Given the description of an element on the screen output the (x, y) to click on. 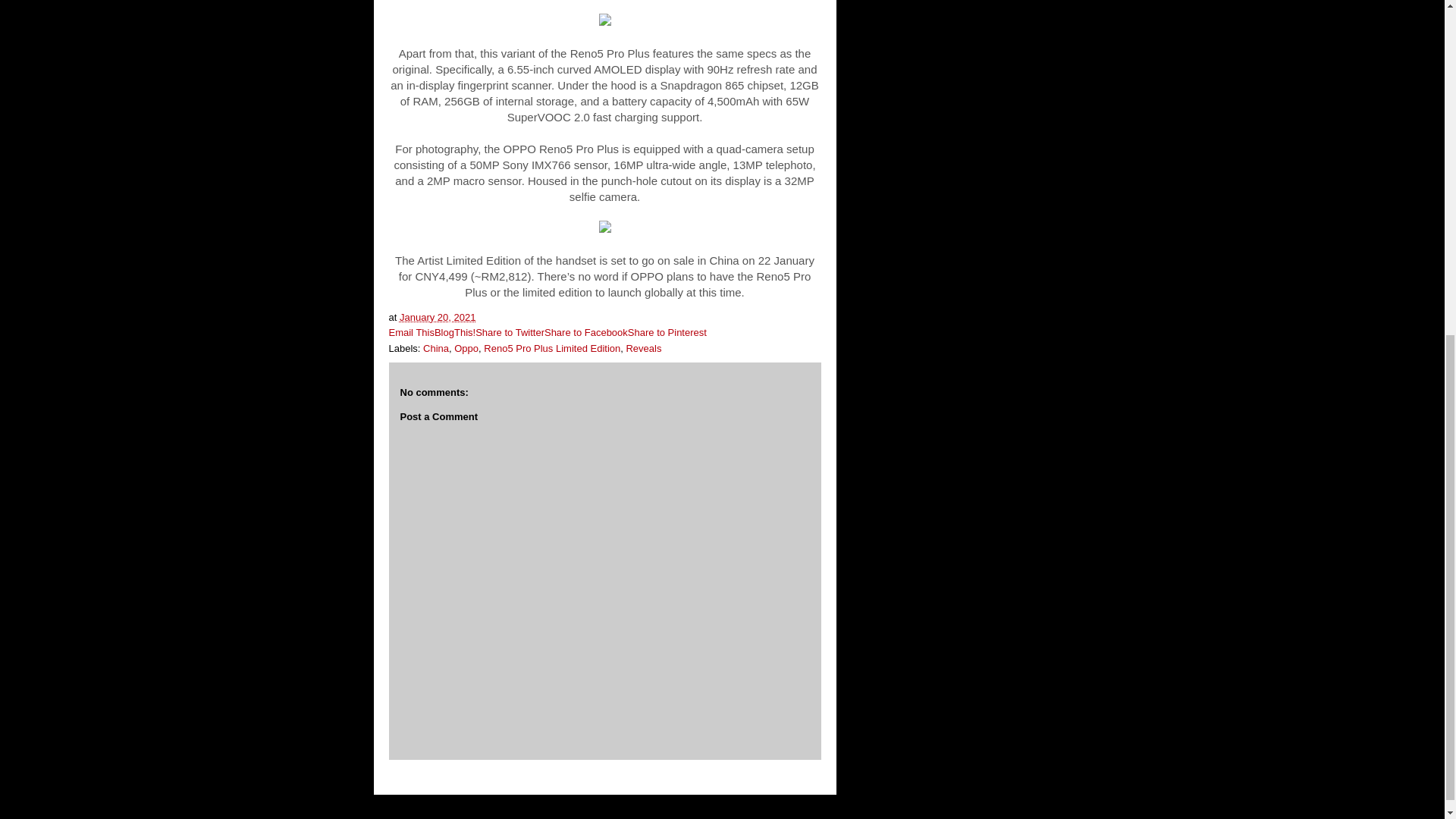
Reveals (643, 348)
Share to Twitter (510, 332)
permanent link (437, 317)
Email This (410, 332)
Oppo (466, 348)
Share to Twitter (510, 332)
Share to Facebook (585, 332)
Email This (410, 332)
BlogThis! (454, 332)
Share to Facebook (585, 332)
